Given the description of an element on the screen output the (x, y) to click on. 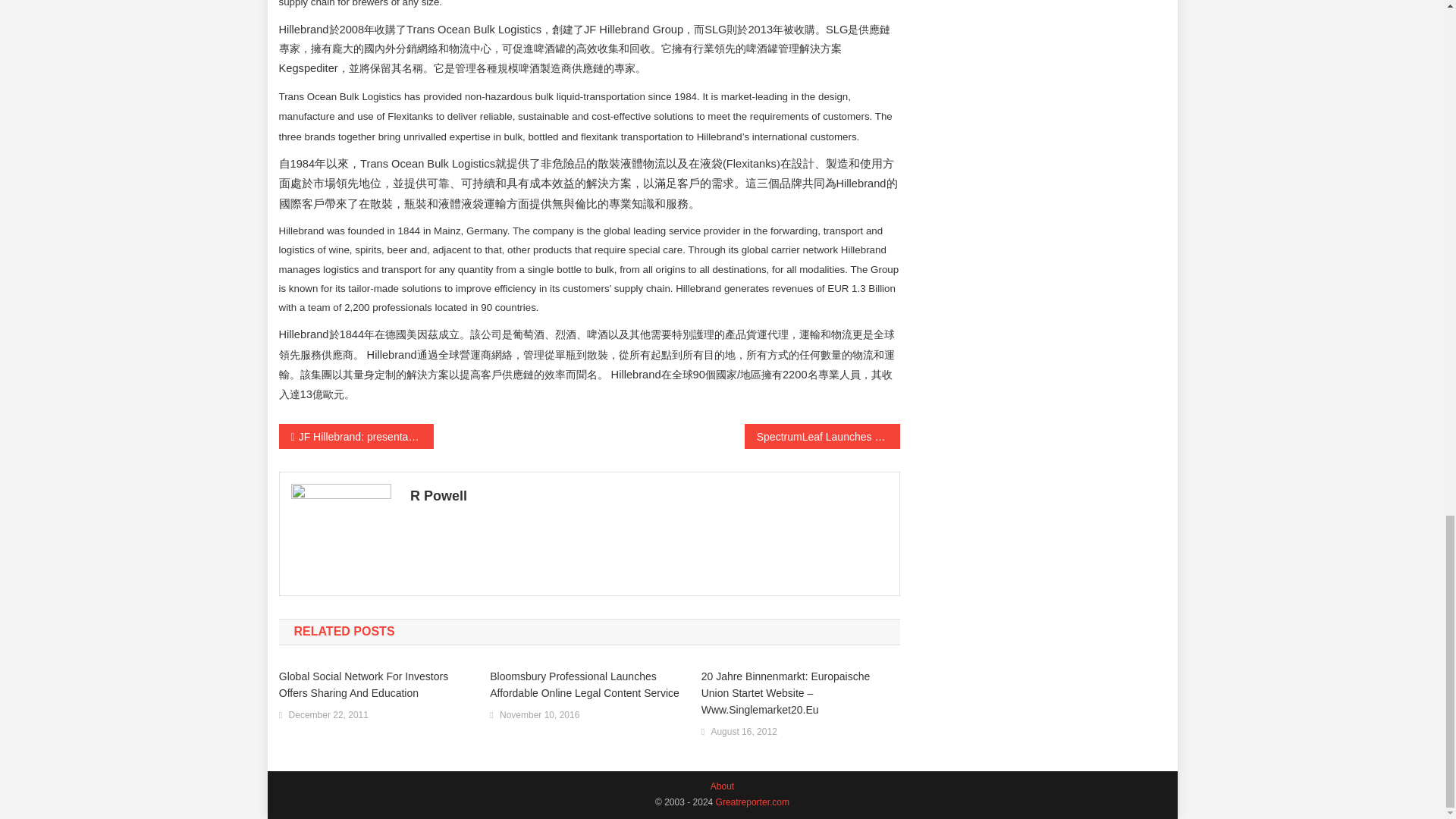
About (752, 801)
About (721, 786)
